Given the description of an element on the screen output the (x, y) to click on. 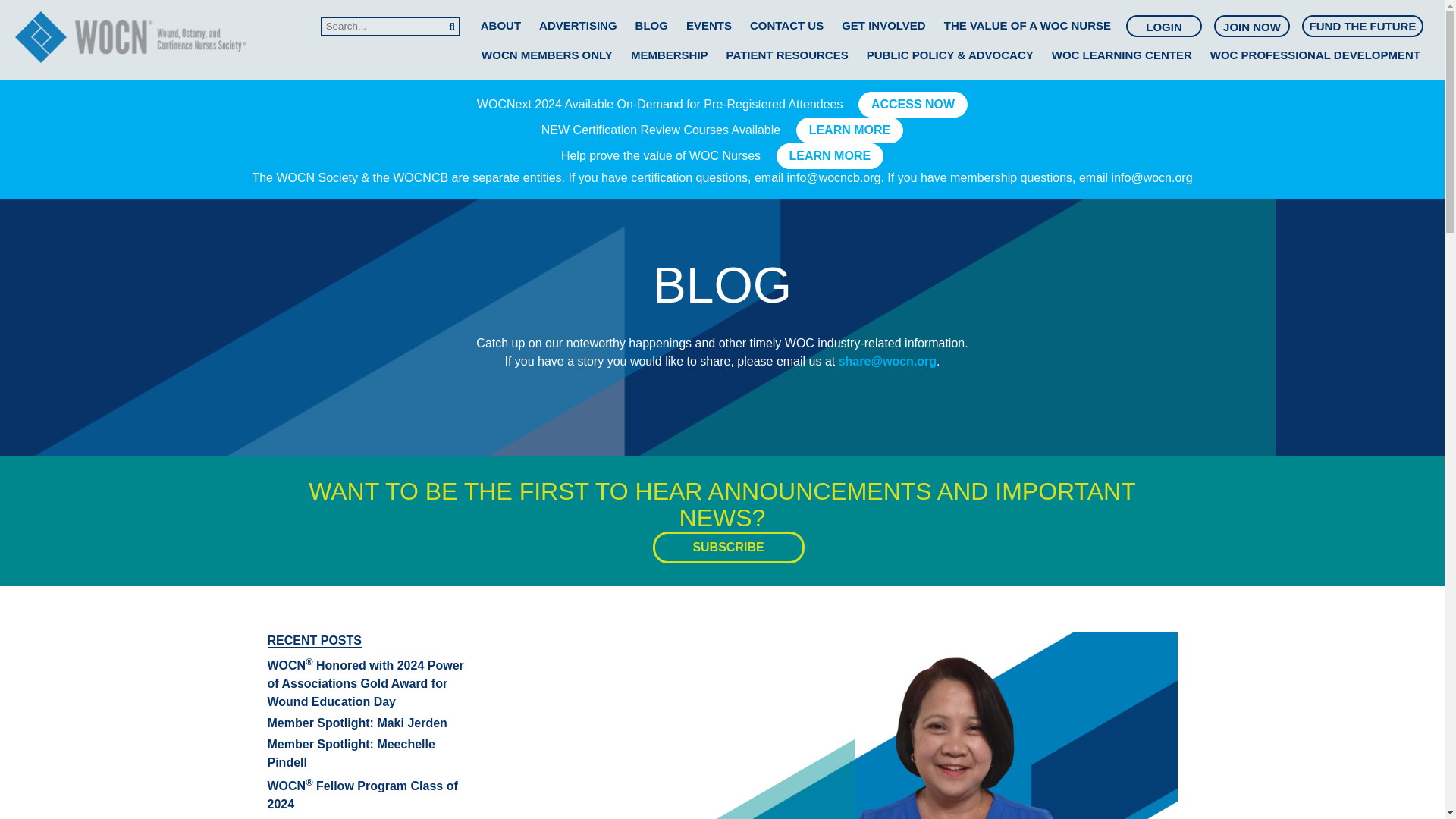
JOIN NOW (1252, 26)
LOGIN (1163, 26)
PATIENT RESOURCES (787, 54)
WOC PROFESSIONAL DEVELOPMENT (1315, 54)
EVENTS (708, 24)
FUND THE FUTURE (1362, 25)
GET INVOLVED (883, 24)
ABOUT (500, 24)
WOC LEARNING CENTER (1121, 54)
ADVERTISING (577, 24)
CONTACT US (786, 24)
BLOG (651, 24)
WOCN MEMBERS ONLY (546, 54)
MEMBERSHIP (668, 54)
THE VALUE OF A WOC NURSE (1026, 24)
